Given the description of an element on the screen output the (x, y) to click on. 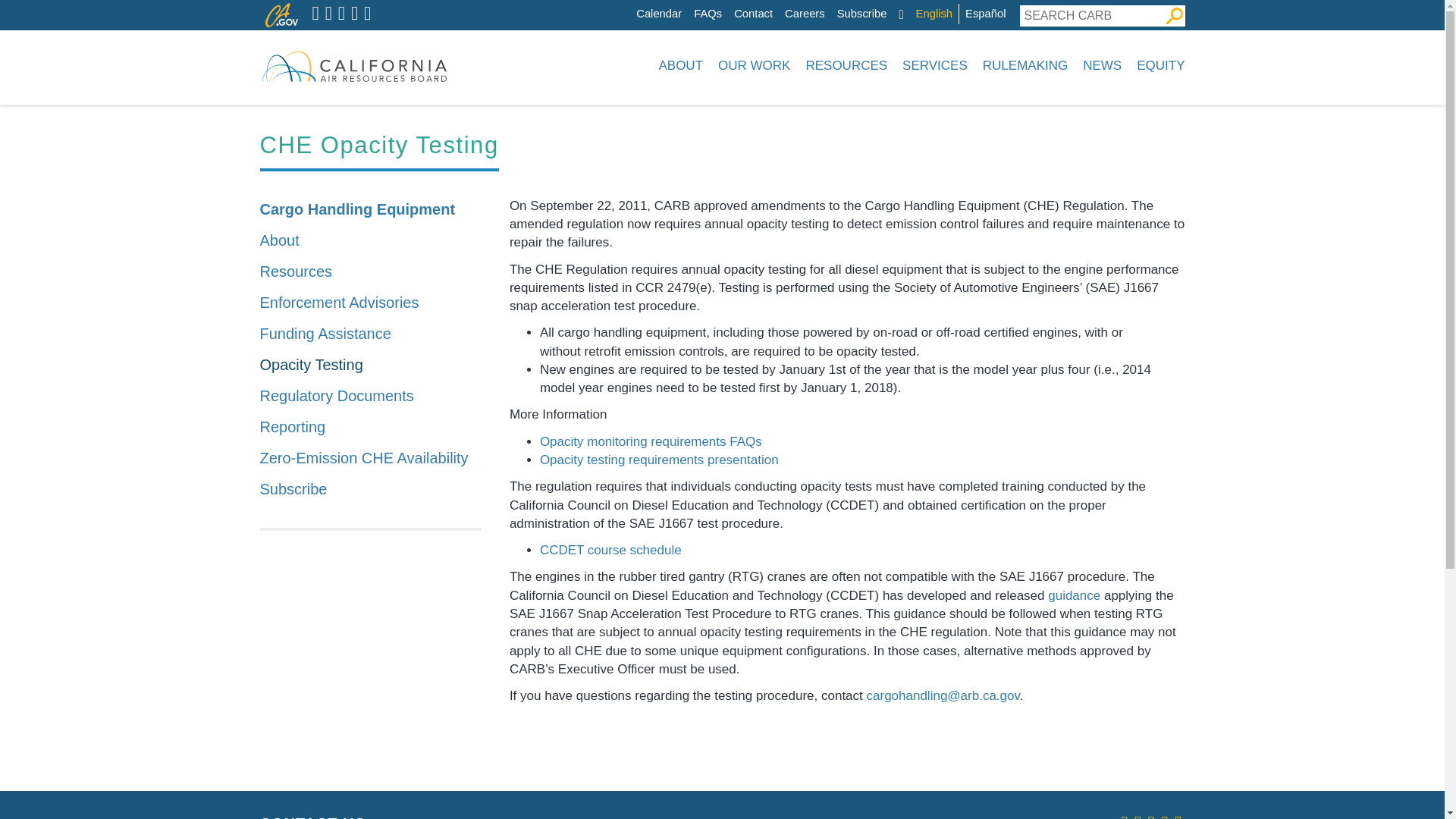
Calendar (658, 14)
English (933, 14)
RESOURCES (846, 65)
Careers (804, 14)
NEWS (1102, 65)
FAQs (708, 14)
Search (1174, 15)
OUR WORK (753, 65)
Skip to main content (639, 4)
ABOUT (680, 65)
EQUITY (1157, 65)
RULEMAKING (1025, 65)
Contact (753, 14)
Enter the terms you wish to search for. (1091, 15)
SERVICES (935, 65)
